Given the description of an element on the screen output the (x, y) to click on. 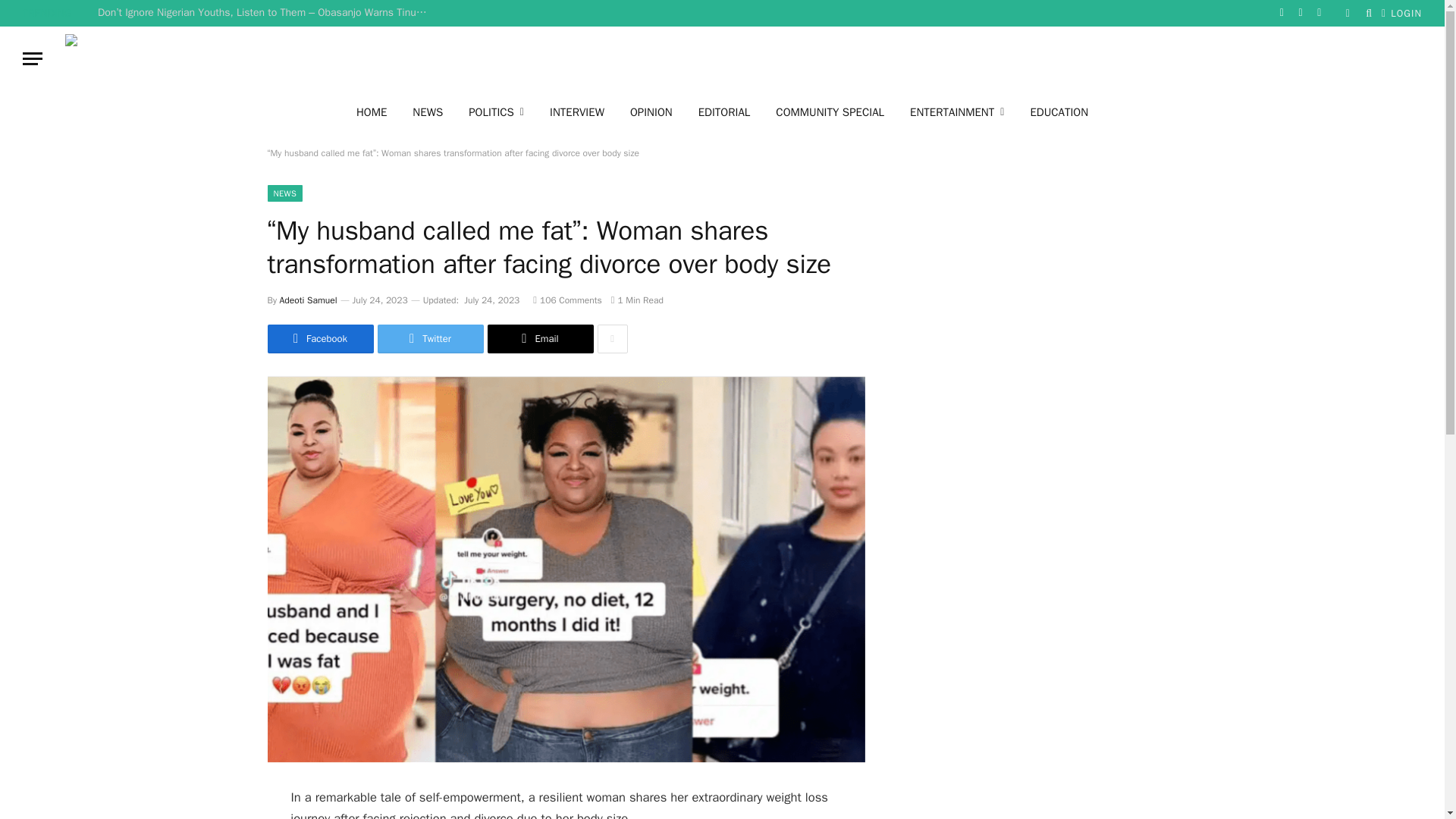
POLITICS (496, 111)
LOGIN (1401, 13)
Daily Insider (760, 58)
HOME (370, 111)
Switch to Dark Design - easier on eyes. (1347, 12)
NEWS (426, 111)
